Given the description of an element on the screen output the (x, y) to click on. 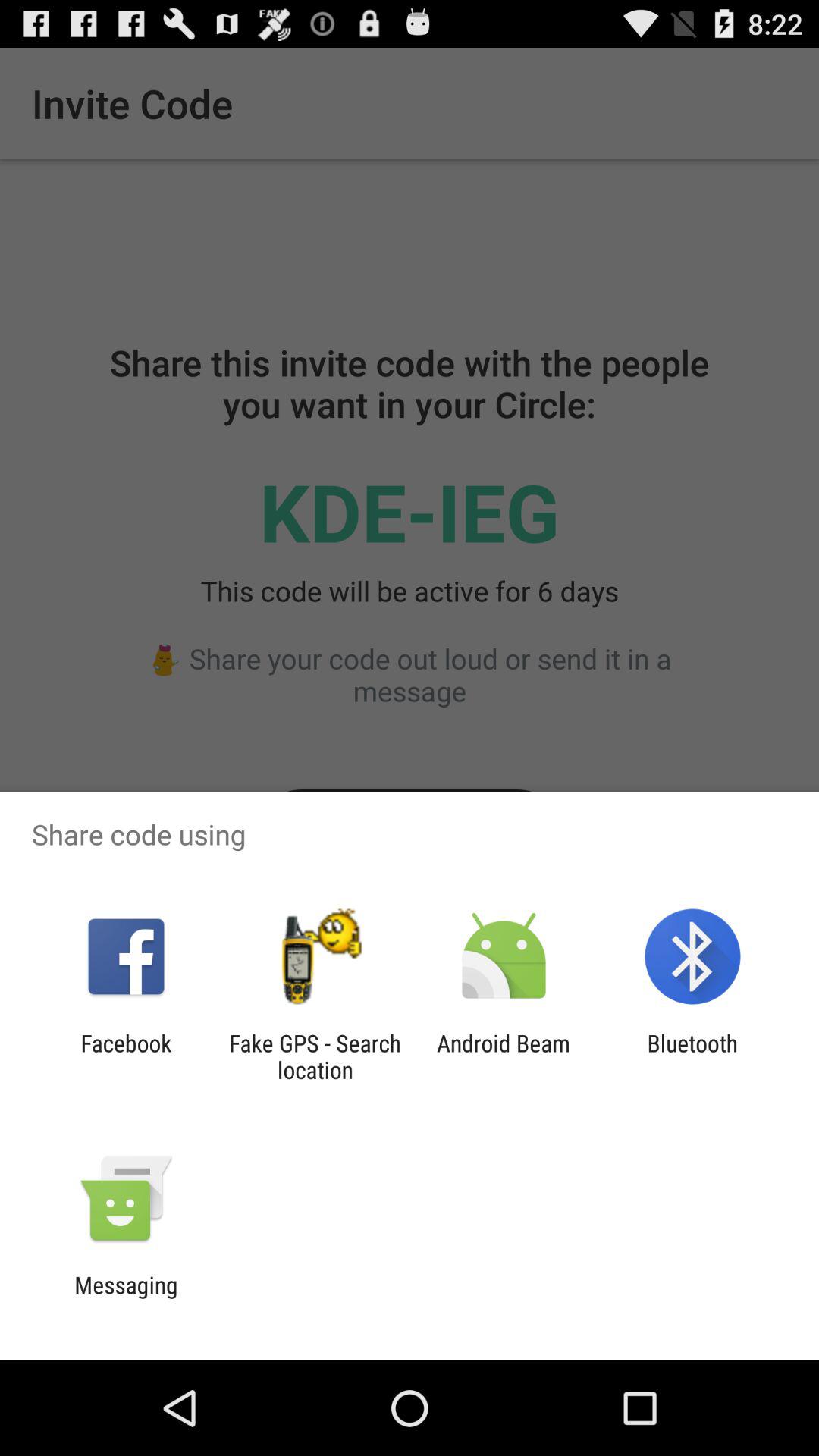
flip until bluetooth icon (692, 1056)
